Given the description of an element on the screen output the (x, y) to click on. 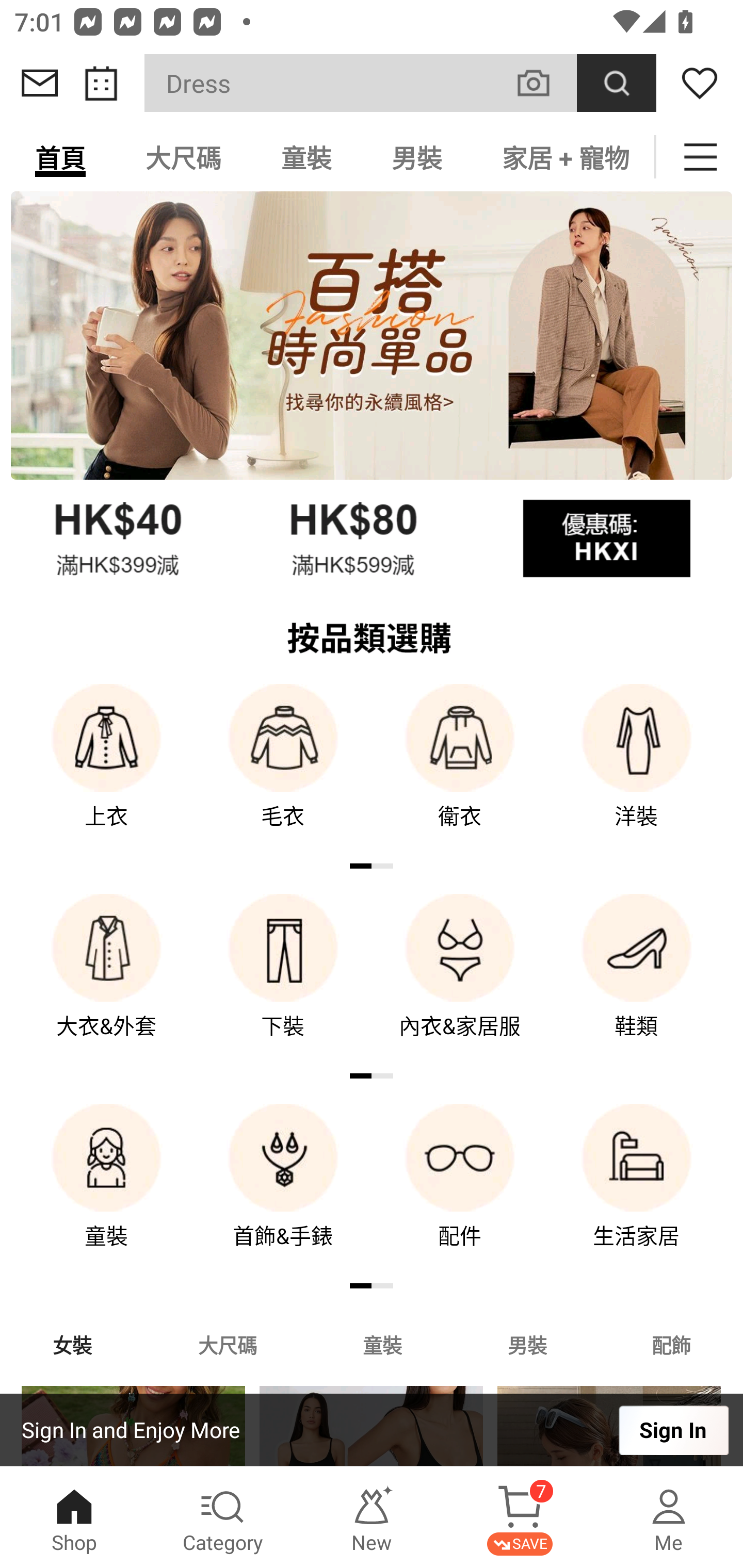
Wishlist (699, 82)
VISUAL SEARCH (543, 82)
首頁 (60, 156)
大尺碼 (183, 156)
童裝 (306, 156)
男裝 (416, 156)
家居 + 寵物 (563, 156)
上衣 (105, 769)
毛衣 (282, 769)
衛衣 (459, 769)
洋裝 (636, 769)
大衣&外套 (105, 979)
下裝 (282, 979)
內衣&家居服 (459, 979)
鞋類 (636, 979)
童裝 (105, 1189)
首飾&手錶 (282, 1189)
配件 (459, 1189)
生活家居 (636, 1189)
女裝 (72, 1344)
大尺碼 (226, 1344)
童裝 (381, 1344)
男裝 (527, 1344)
配飾 (671, 1344)
Sign In and Enjoy More Sign In (371, 1429)
Category (222, 1517)
New (371, 1517)
Cart 7 SAVE (519, 1517)
Me (668, 1517)
